Given the description of an element on the screen output the (x, y) to click on. 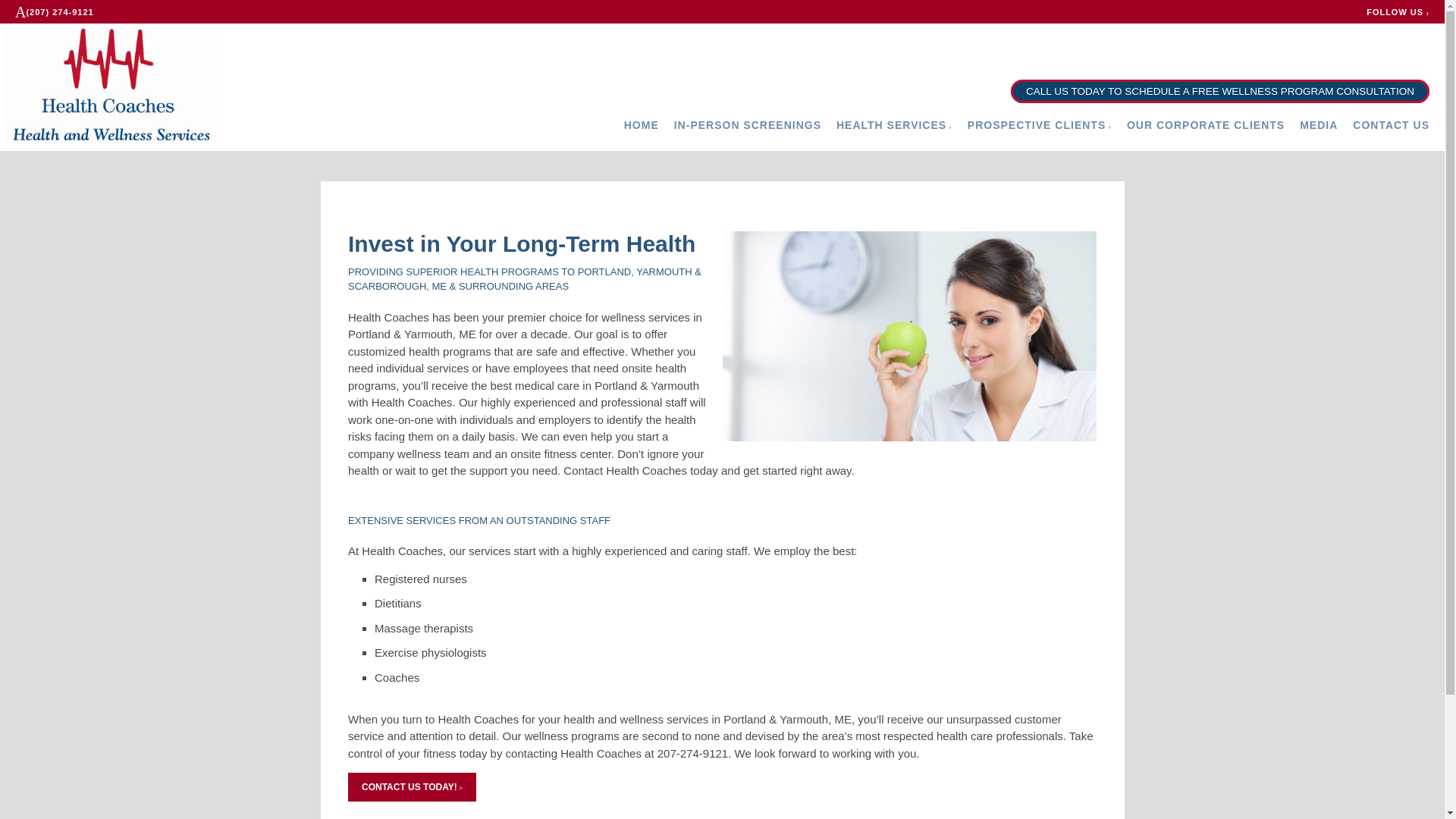
OUR CORPORATE CLIENTS (1205, 124)
CONTACT US TODAY! (411, 787)
IN-PERSON SCREENINGS (747, 124)
MEDIA (1319, 124)
CONTACT US (1390, 124)
HOME (641, 124)
